Given the description of an element on the screen output the (x, y) to click on. 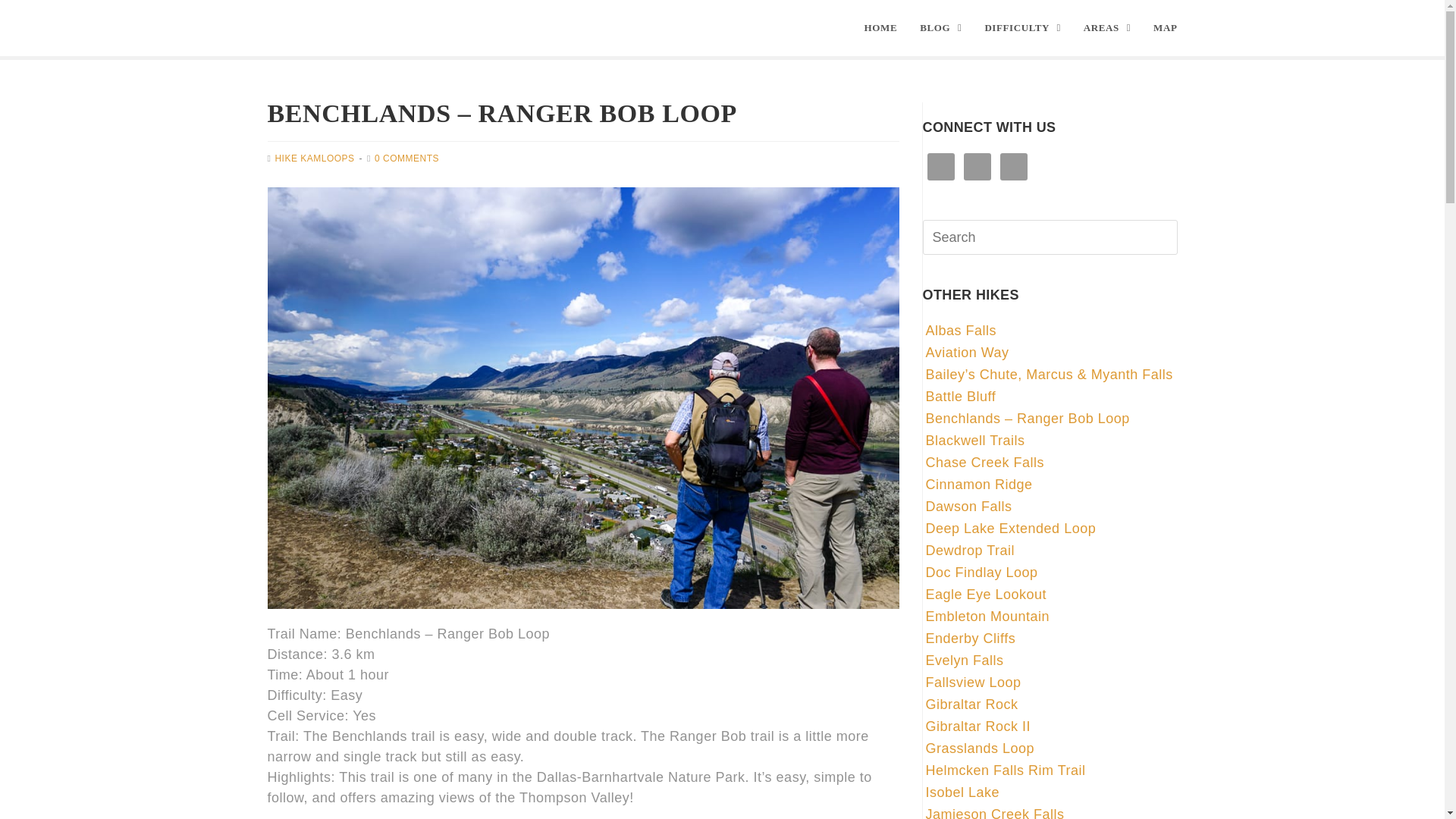
HIKE KAMLOOPS (314, 158)
Posts by Hike Kamloops (314, 158)
AREAS (1106, 28)
BLOG (940, 28)
HOME (880, 28)
DIFFICULTY (1021, 28)
0 COMMENTS (406, 158)
